Given the description of an element on the screen output the (x, y) to click on. 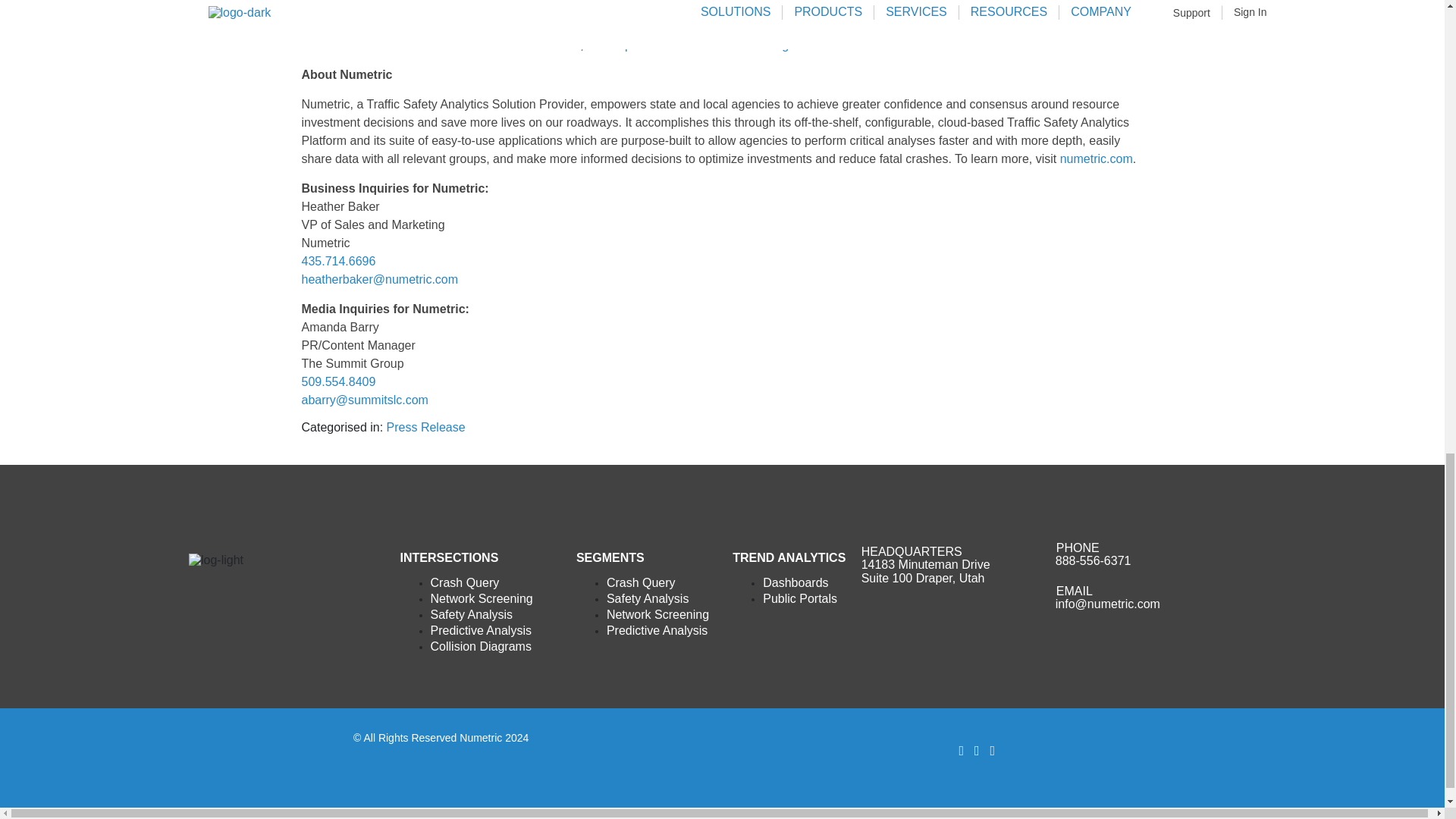
www.numetric.com (581, 15)
